Given the description of an element on the screen output the (x, y) to click on. 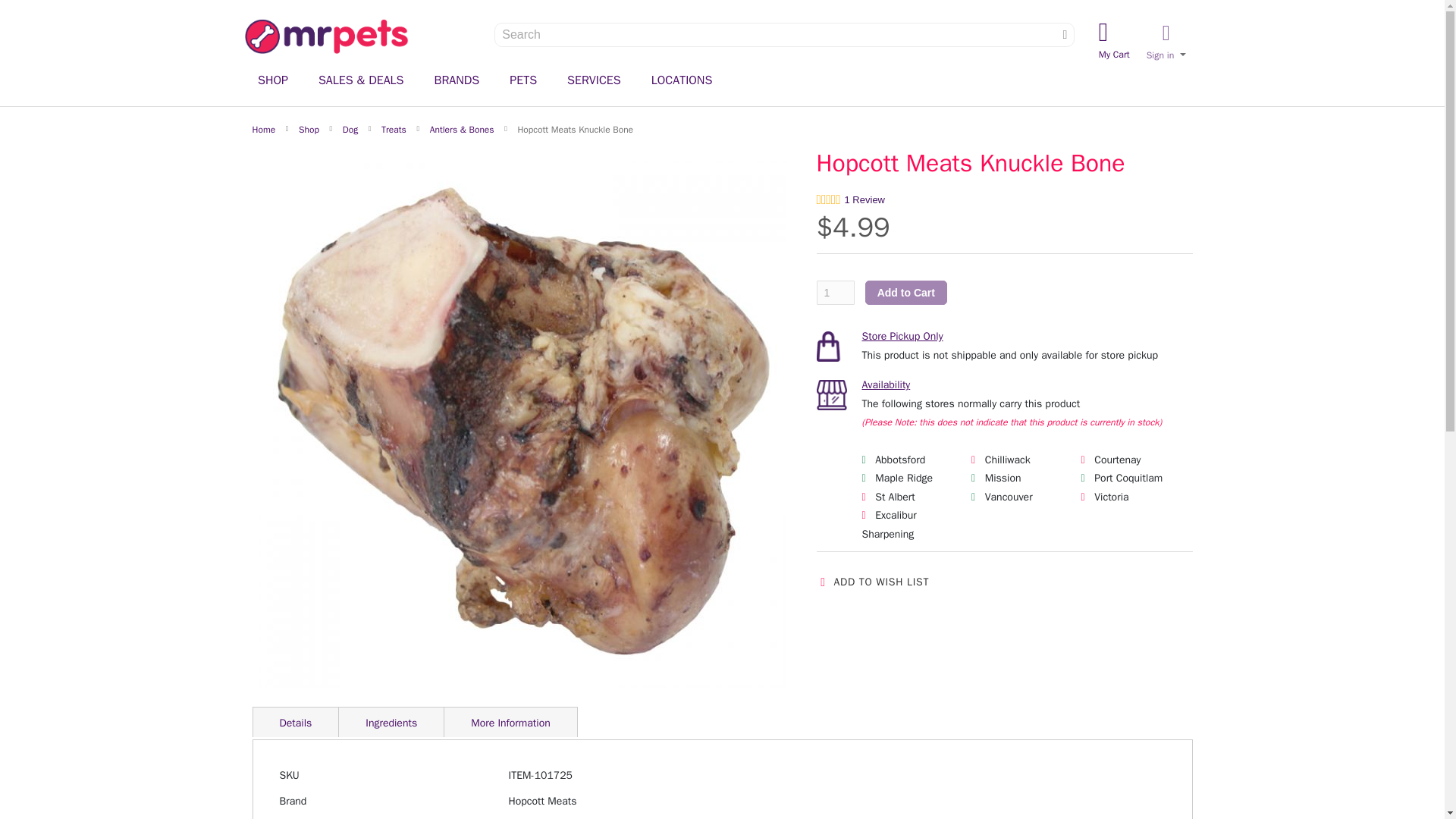
Sign in (1114, 40)
Search (1166, 43)
Shop (1064, 34)
Search (272, 80)
1 (1064, 34)
SHOP (834, 292)
